Given the description of an element on the screen output the (x, y) to click on. 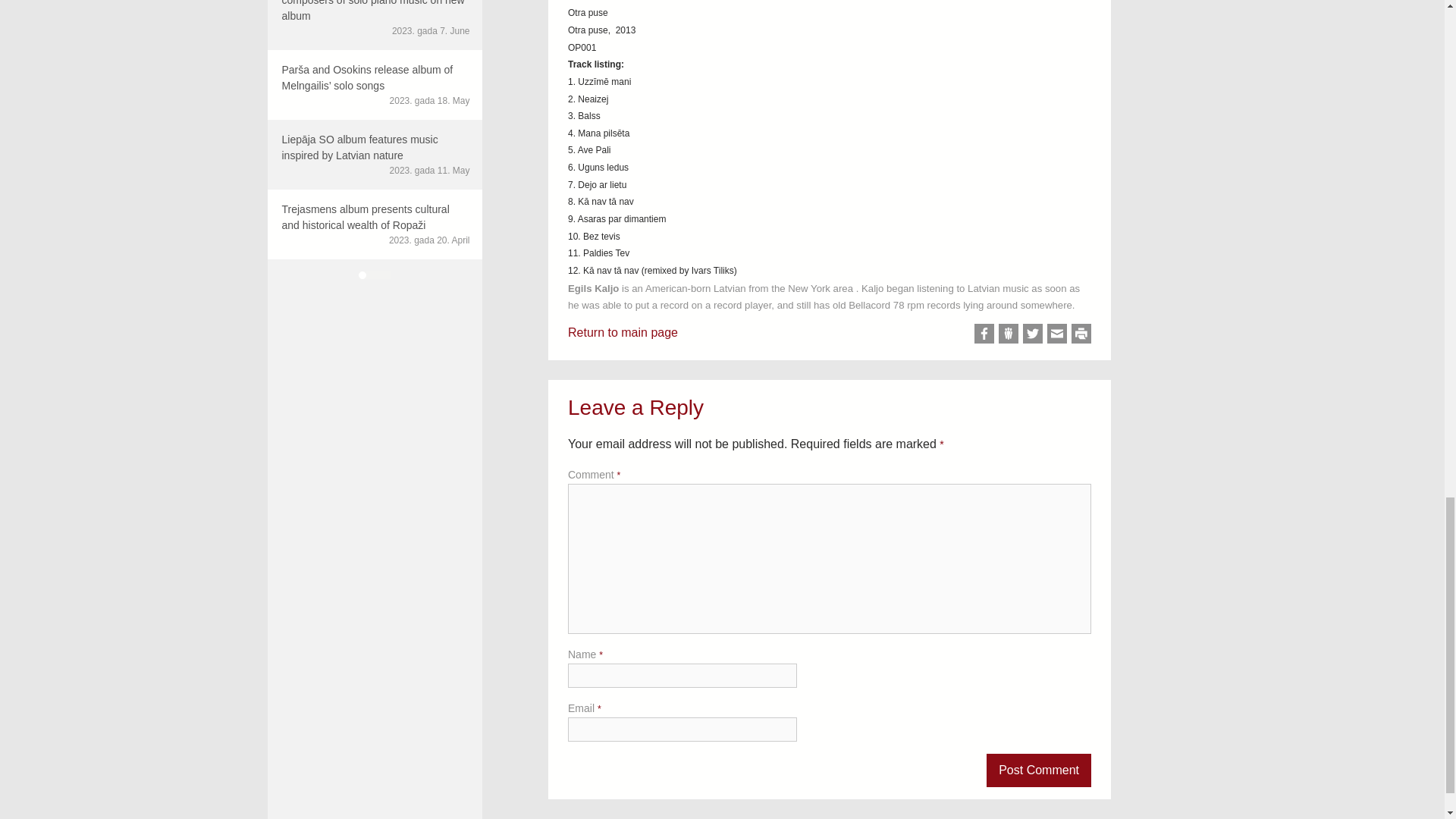
Share on Draugiem.lv (1007, 333)
Share on Facebook (984, 333)
Return to main page (622, 332)
Print (1080, 333)
Share on Twitter (1032, 333)
Share via Email (1056, 333)
Post Comment (1038, 770)
